Given the description of an element on the screen output the (x, y) to click on. 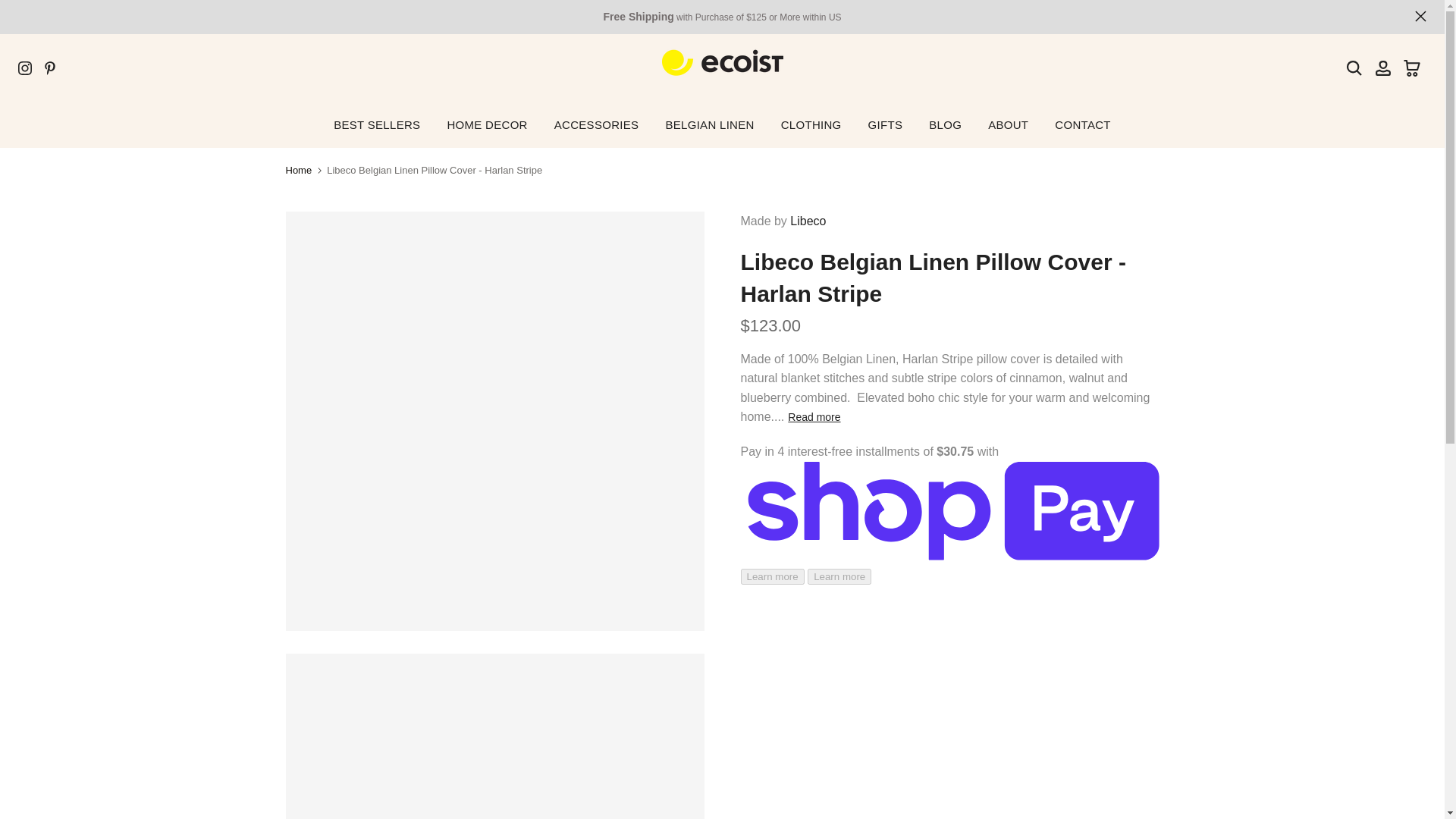
Skip to content (10, 7)
ACCESSORIES (596, 124)
BEST SELLERS (376, 124)
Libeco (807, 220)
Home (298, 170)
GIFTS (884, 124)
BLOG (945, 124)
CLOTHING (810, 124)
ABOUT (1008, 124)
BELGIAN LINEN (709, 124)
HOME DECOR (486, 124)
CONTACT (1083, 124)
Read more (813, 417)
close (1420, 16)
